Given the description of an element on the screen output the (x, y) to click on. 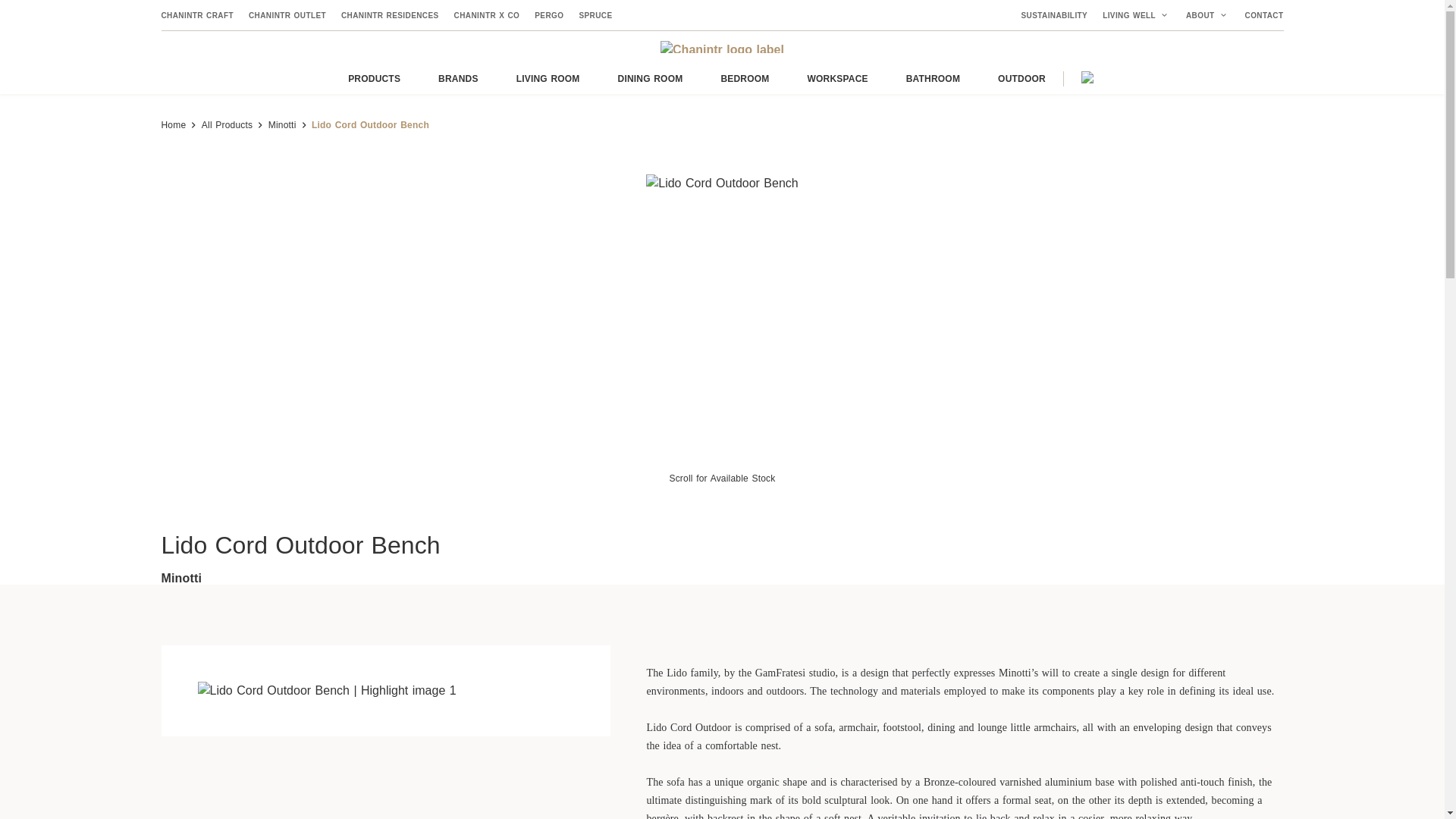
Chanintr x Co (486, 14)
CONTACT (1260, 14)
Chanintr Residences (389, 14)
CHANINTR OUTLET (287, 14)
CHANINTR CRAFT (200, 14)
CHANINTR CRAFT (200, 14)
SPRUCE (590, 14)
Sustainability (1057, 14)
CHANINTR RESIDENCES (389, 14)
Chanintr (722, 46)
Scroll for Available Stock (721, 478)
Spruce (590, 14)
Contact (1260, 14)
Pergo (548, 14)
PERGO (548, 14)
